Given the description of an element on the screen output the (x, y) to click on. 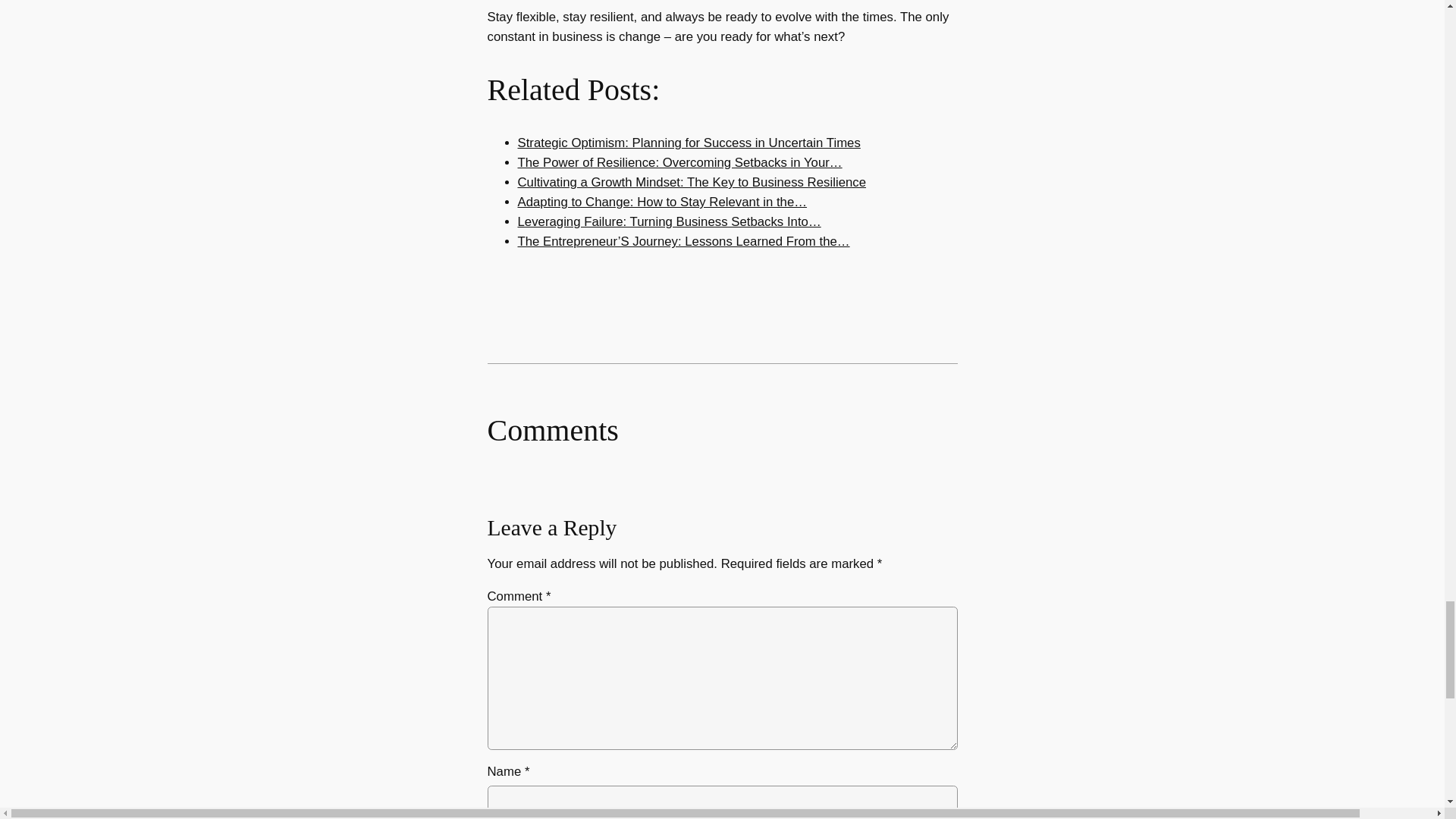
Cultivating a Growth Mindset: The Key to Business Resilience (691, 182)
Strategic Optimism: Planning for Success in Uncertain Times (688, 142)
